Given the description of an element on the screen output the (x, y) to click on. 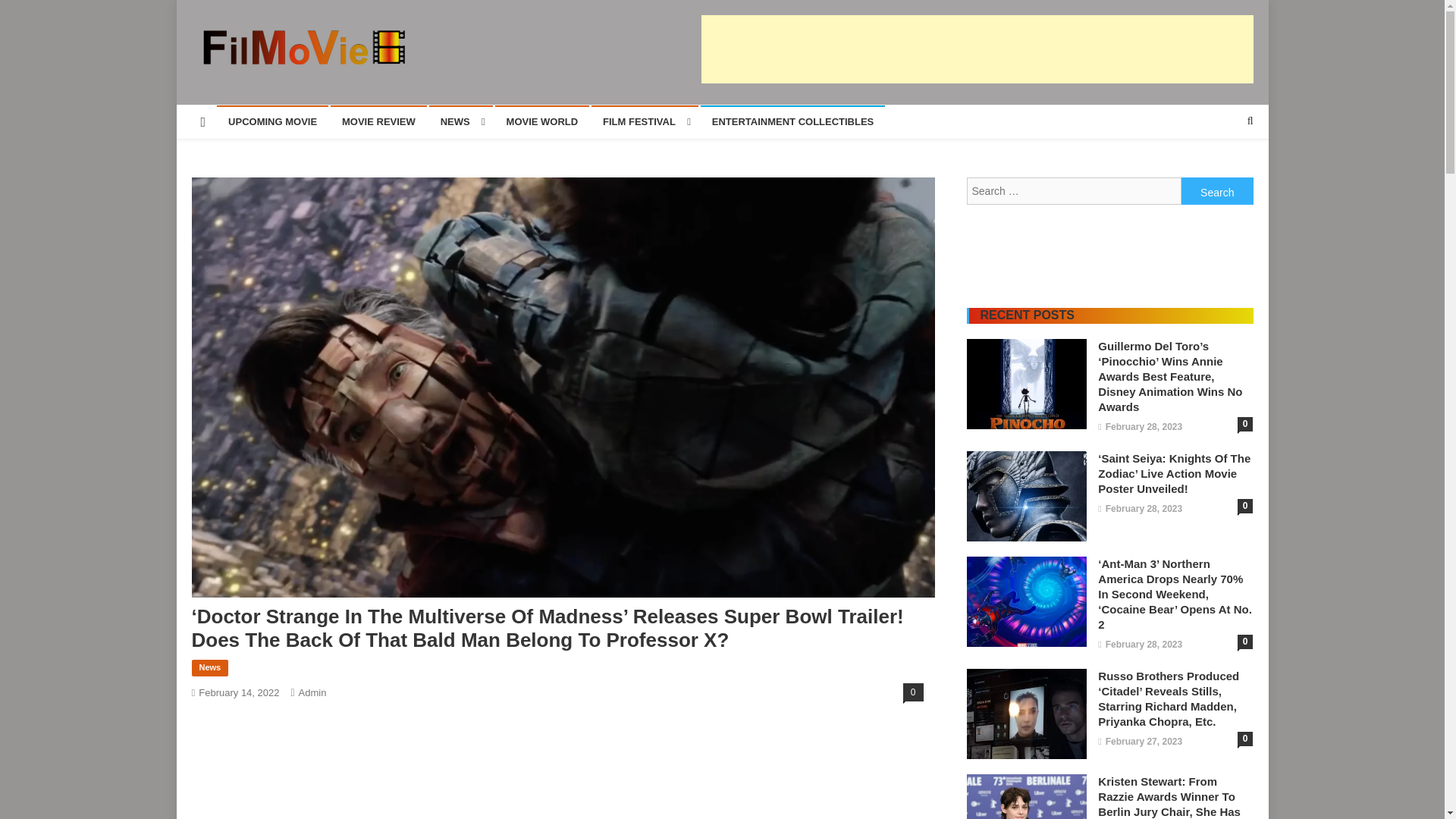
Search (1216, 190)
ENTERTAINMENT COLLECTIBLES (792, 121)
Admin (312, 692)
FILM FESTIVAL (644, 121)
Search (1216, 190)
Search (1221, 171)
MOVIE REVIEW (378, 121)
MOVIE WORLD (542, 121)
0 (912, 692)
FMV6 (223, 79)
